Given the description of an element on the screen output the (x, y) to click on. 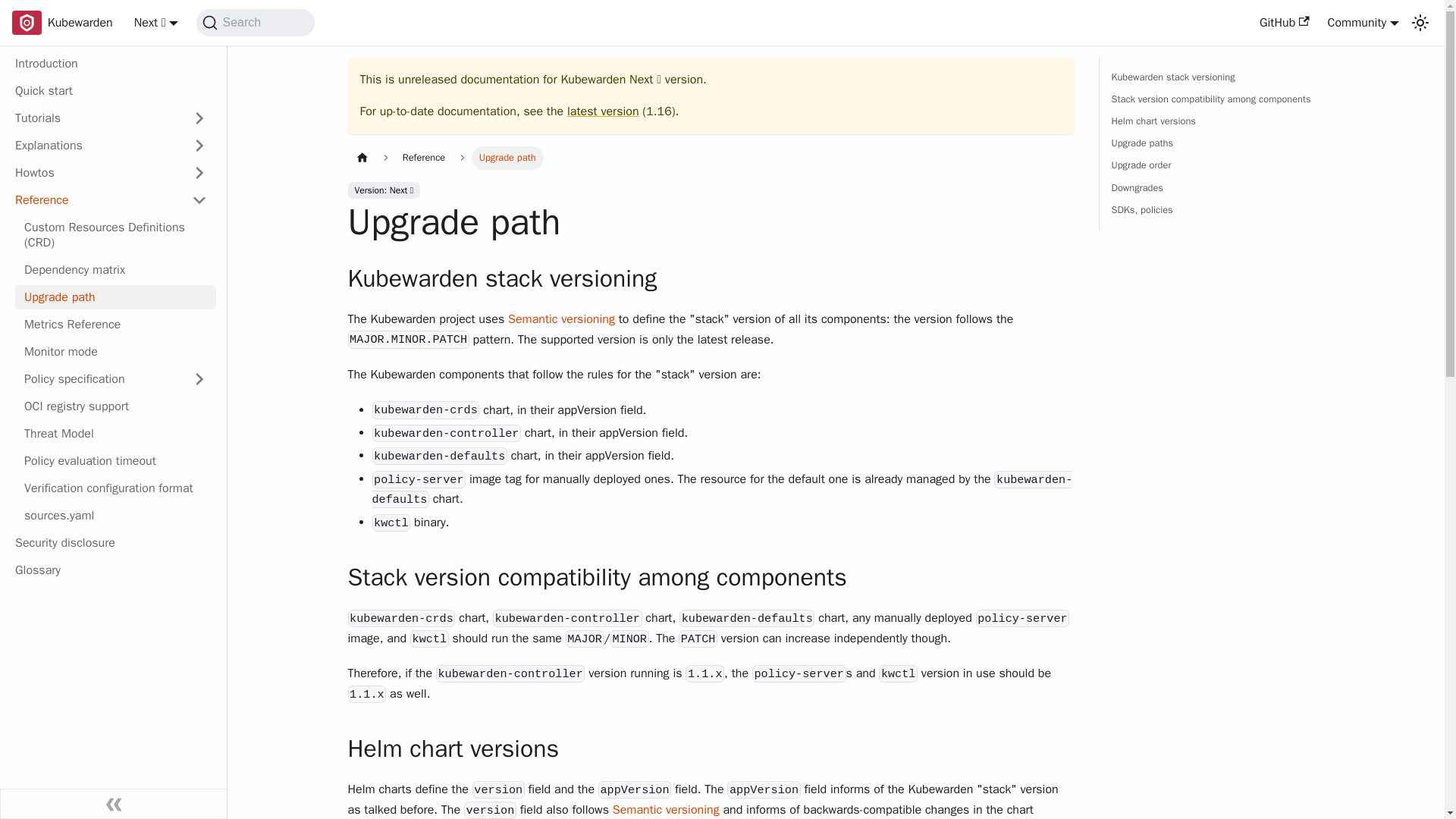
sources.yaml (114, 515)
Quick start (110, 90)
Reference (110, 200)
Dependency matrix (114, 269)
OCI registry support (114, 405)
Policy evaluation timeout (114, 460)
Explanations (110, 145)
Collapse sidebar (113, 803)
Search (255, 22)
Metrics Reference (114, 324)
